Given the description of an element on the screen output the (x, y) to click on. 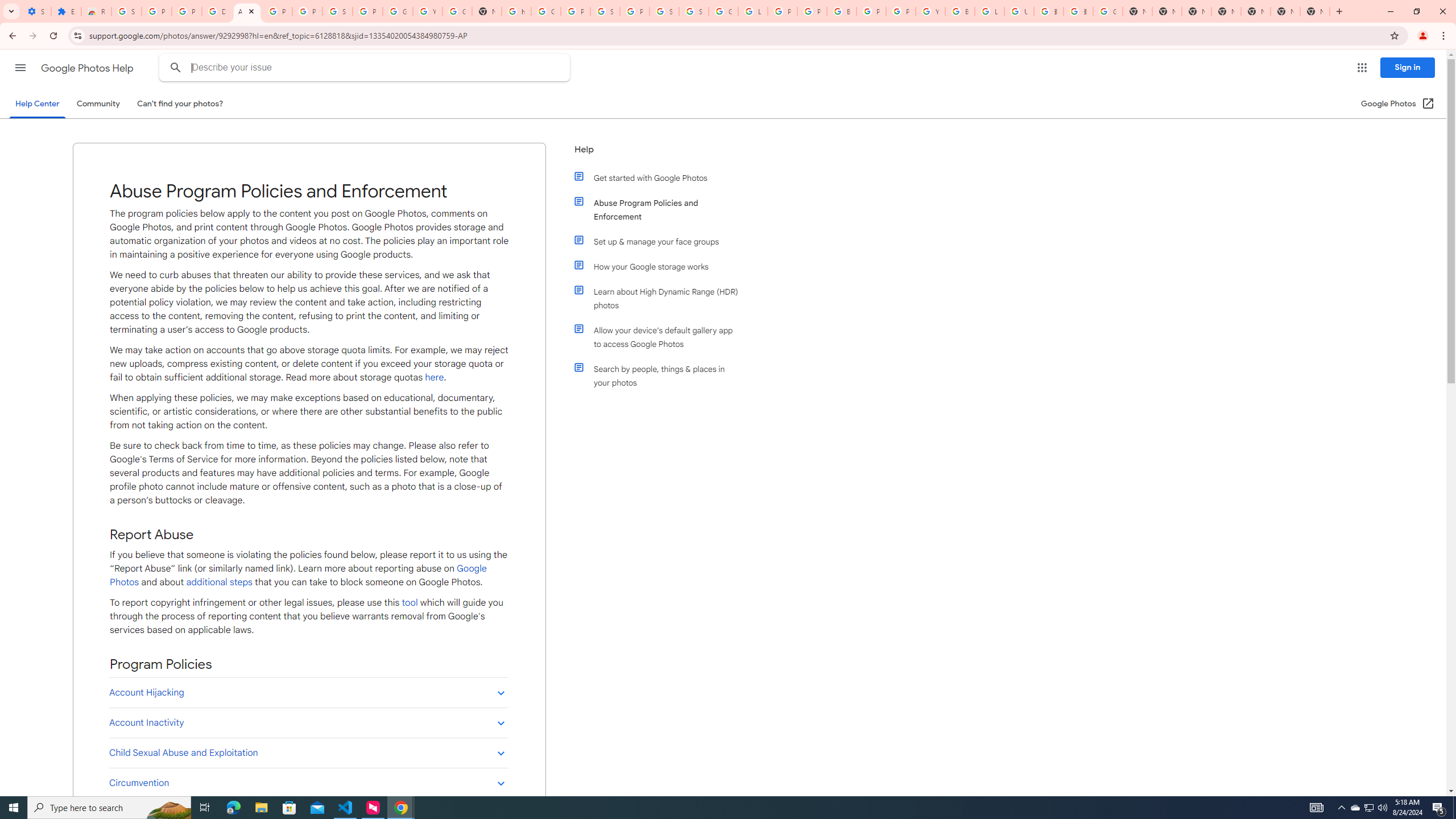
YouTube (930, 11)
Sign in - Google Accounts (337, 11)
How your Google storage works (661, 266)
tool (409, 602)
Sign in - Google Accounts (664, 11)
